Given the description of an element on the screen output the (x, y) to click on. 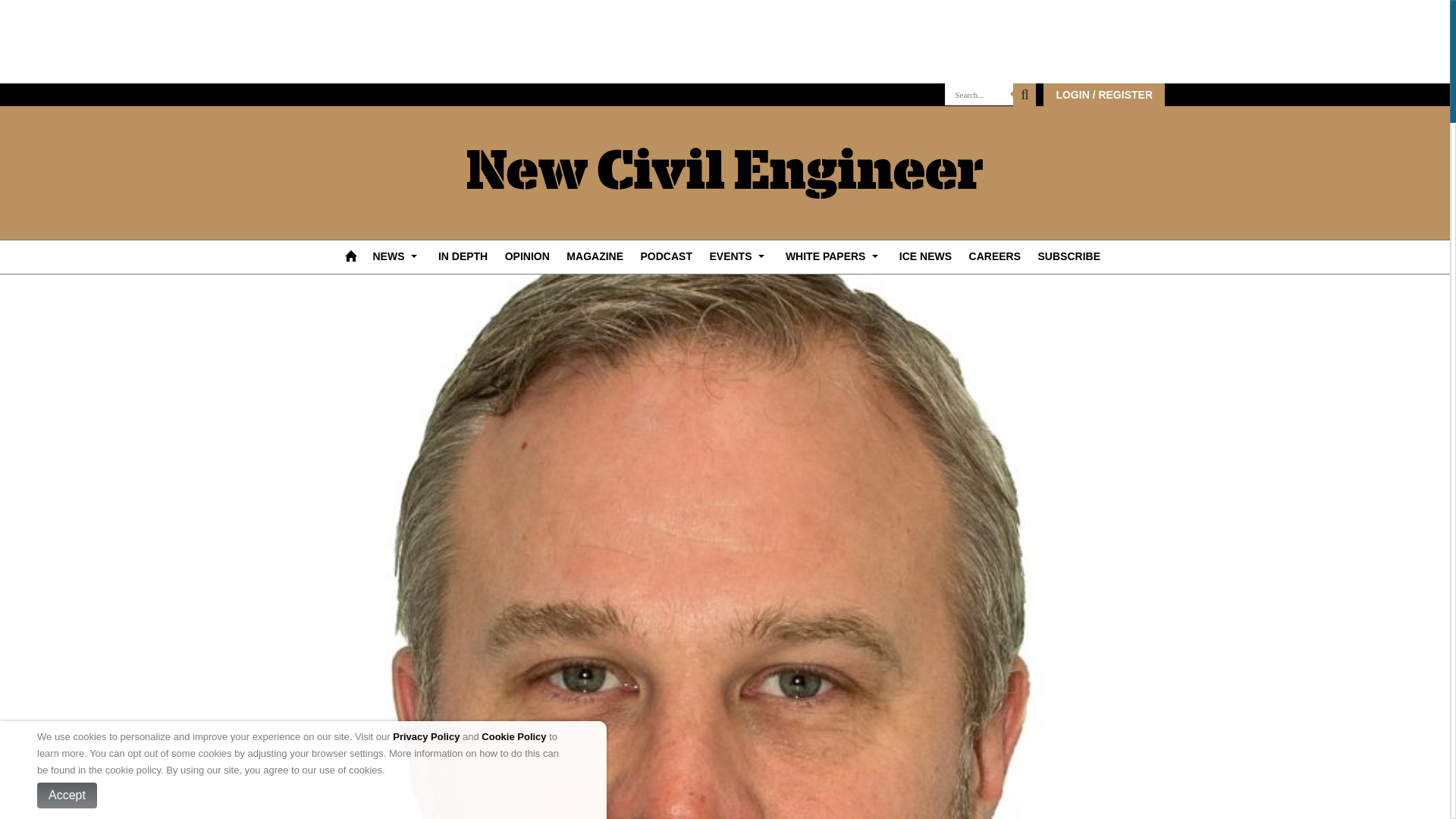
New Civil Engineer (724, 173)
